Given the description of an element on the screen output the (x, y) to click on. 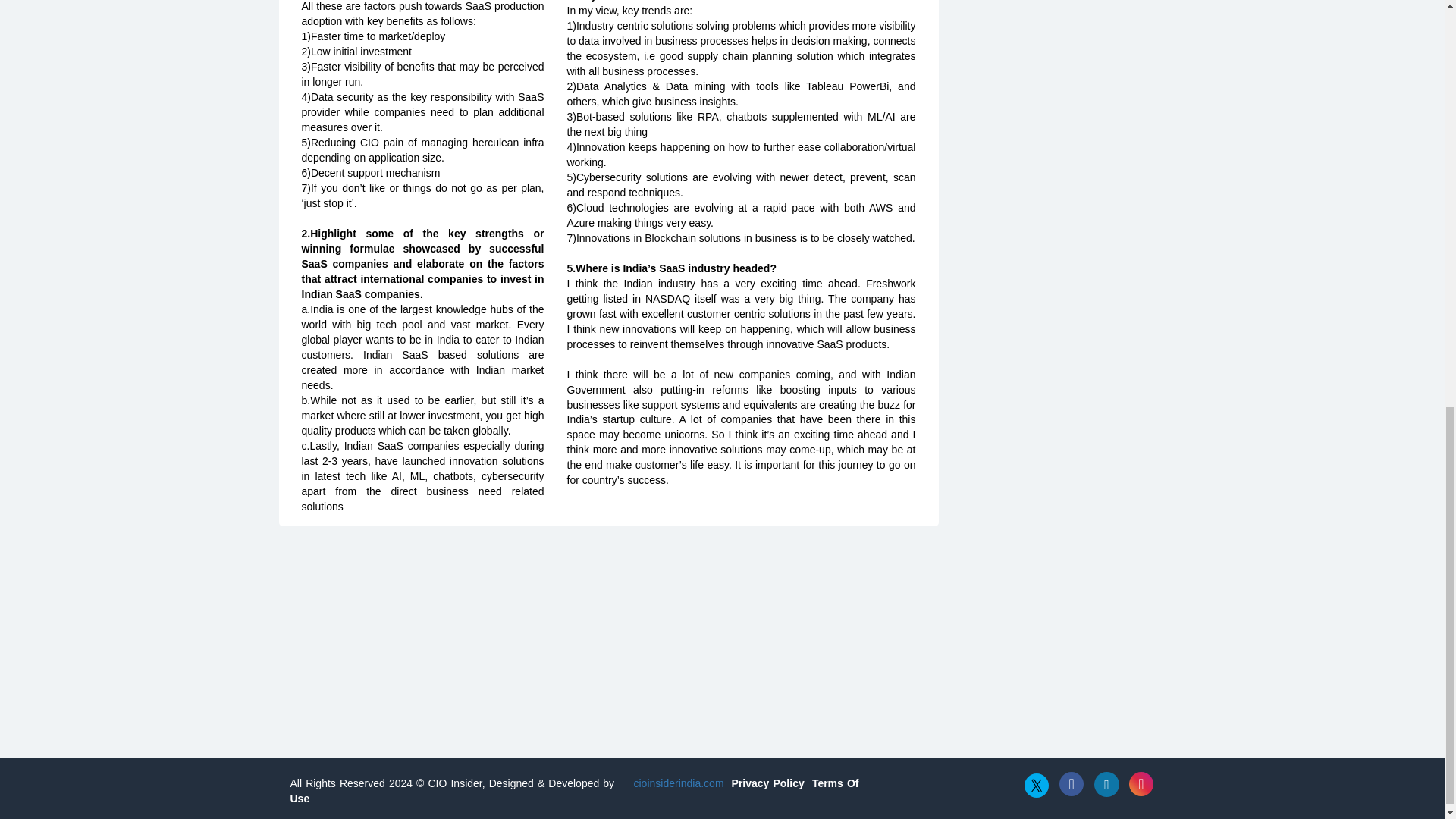
cioinsiderindia.com (675, 783)
Terms Of Use (574, 790)
Privacy Policy (768, 783)
